Given the description of an element on the screen output the (x, y) to click on. 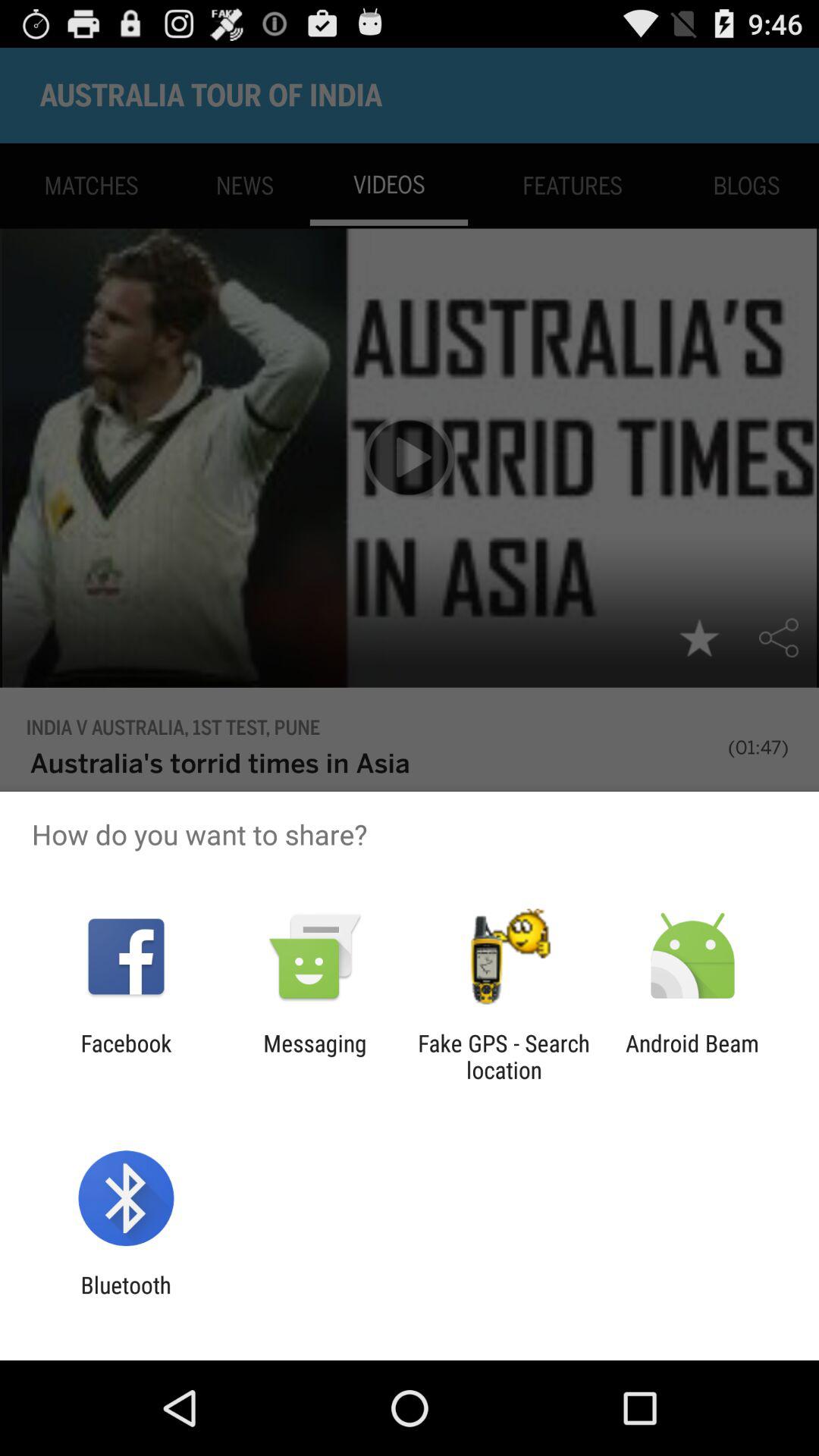
jump until messaging (314, 1056)
